Given the description of an element on the screen output the (x, y) to click on. 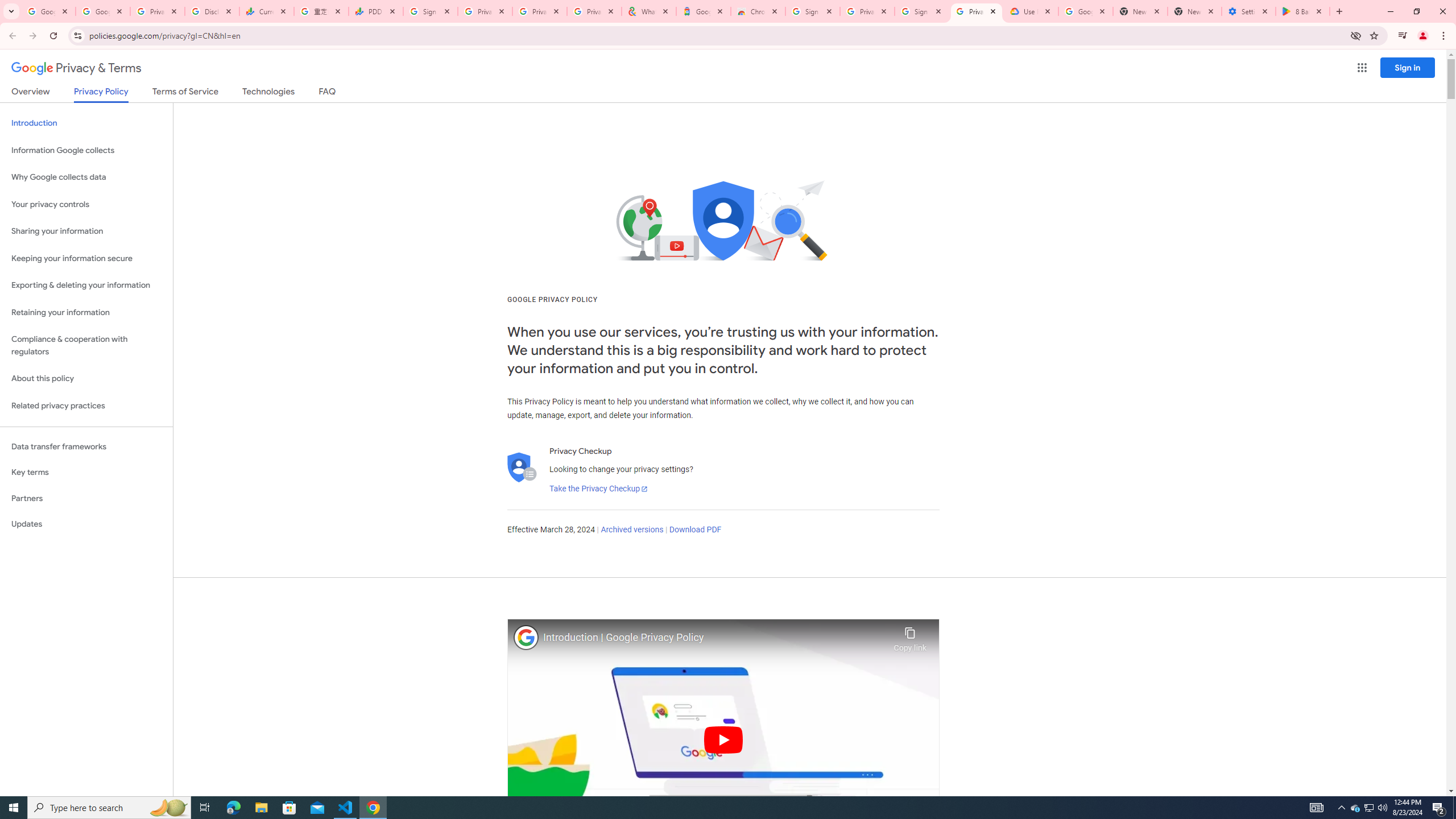
Sign in - Google Accounts (921, 11)
Related privacy practices (86, 405)
Photo image of Google (526, 636)
Sign in - Google Accounts (430, 11)
